Given the description of an element on the screen output the (x, y) to click on. 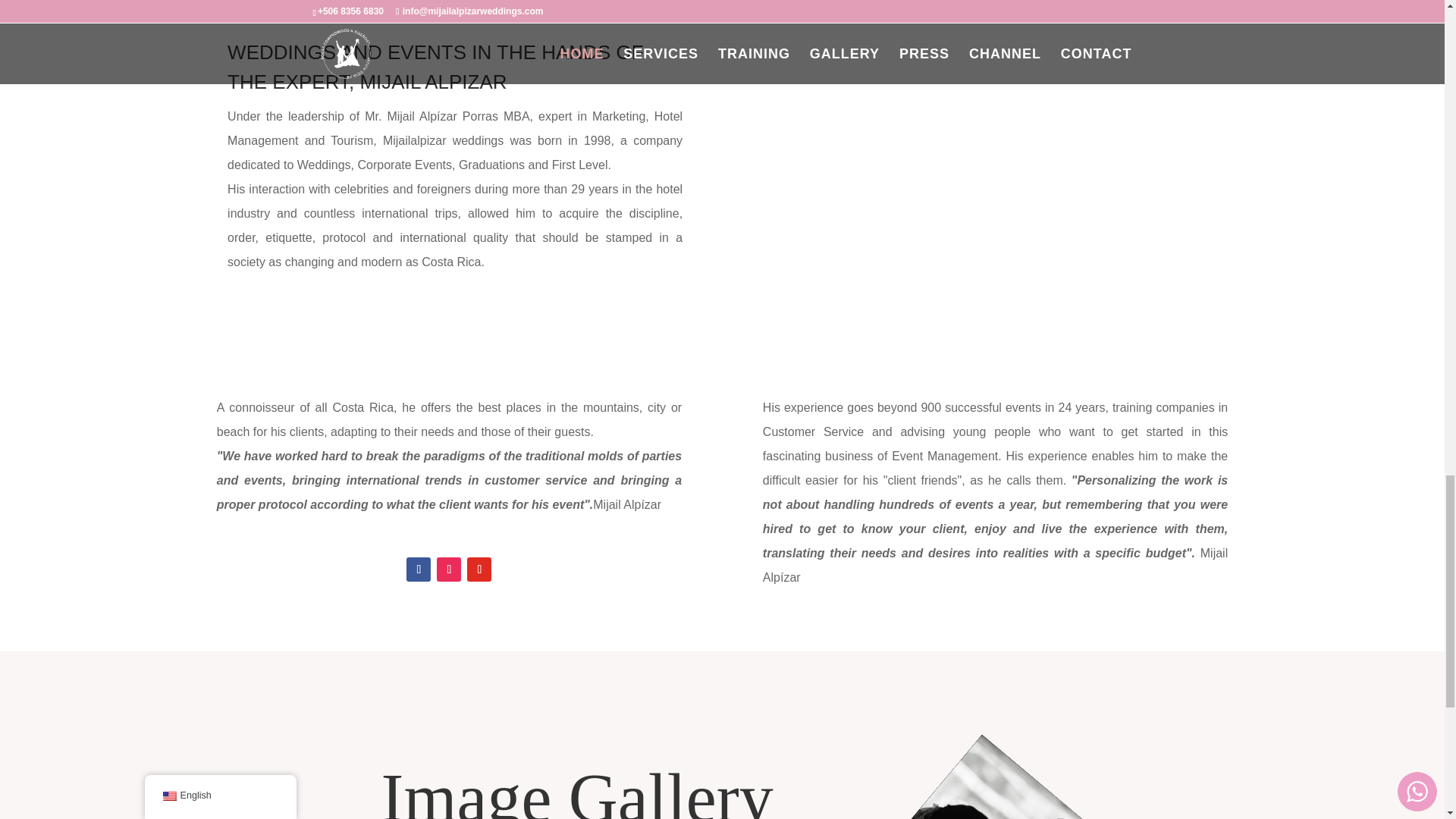
Follow on Instagram (448, 569)
al1 (888, 776)
Follow on Youtube (479, 569)
Follow on Facebook (418, 569)
